Given the description of an element on the screen output the (x, y) to click on. 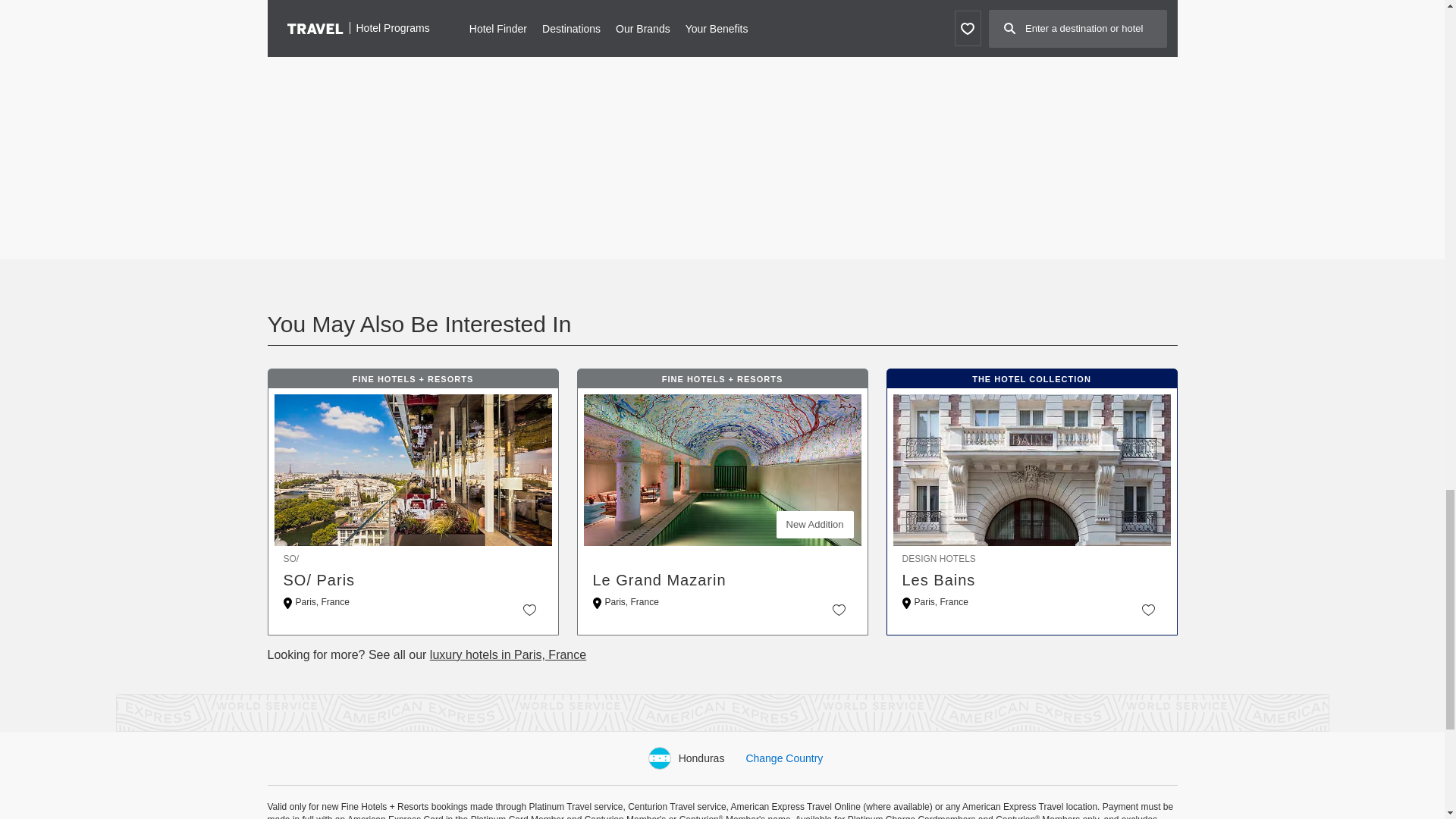
Le Grand Mazarin (721, 579)
Les Bains (1031, 579)
Change Country (783, 758)
luxury hotels in Paris, France (507, 654)
